Given the description of an element on the screen output the (x, y) to click on. 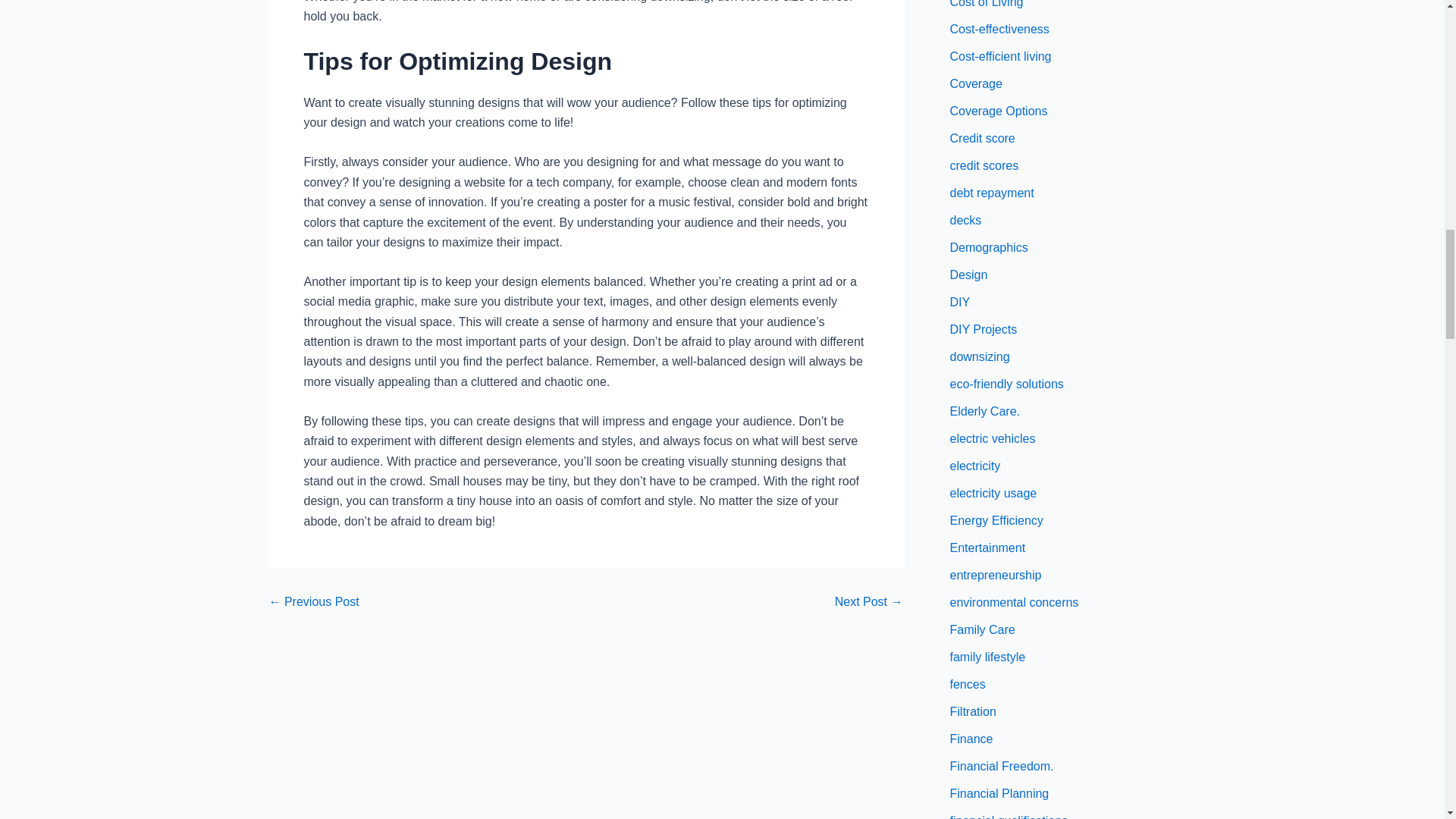
Dream Big in Tiny Spaces: Clever Tiny House Design Plans (312, 602)
Designing a Dream Tiny Home (868, 602)
